Given the description of an element on the screen output the (x, y) to click on. 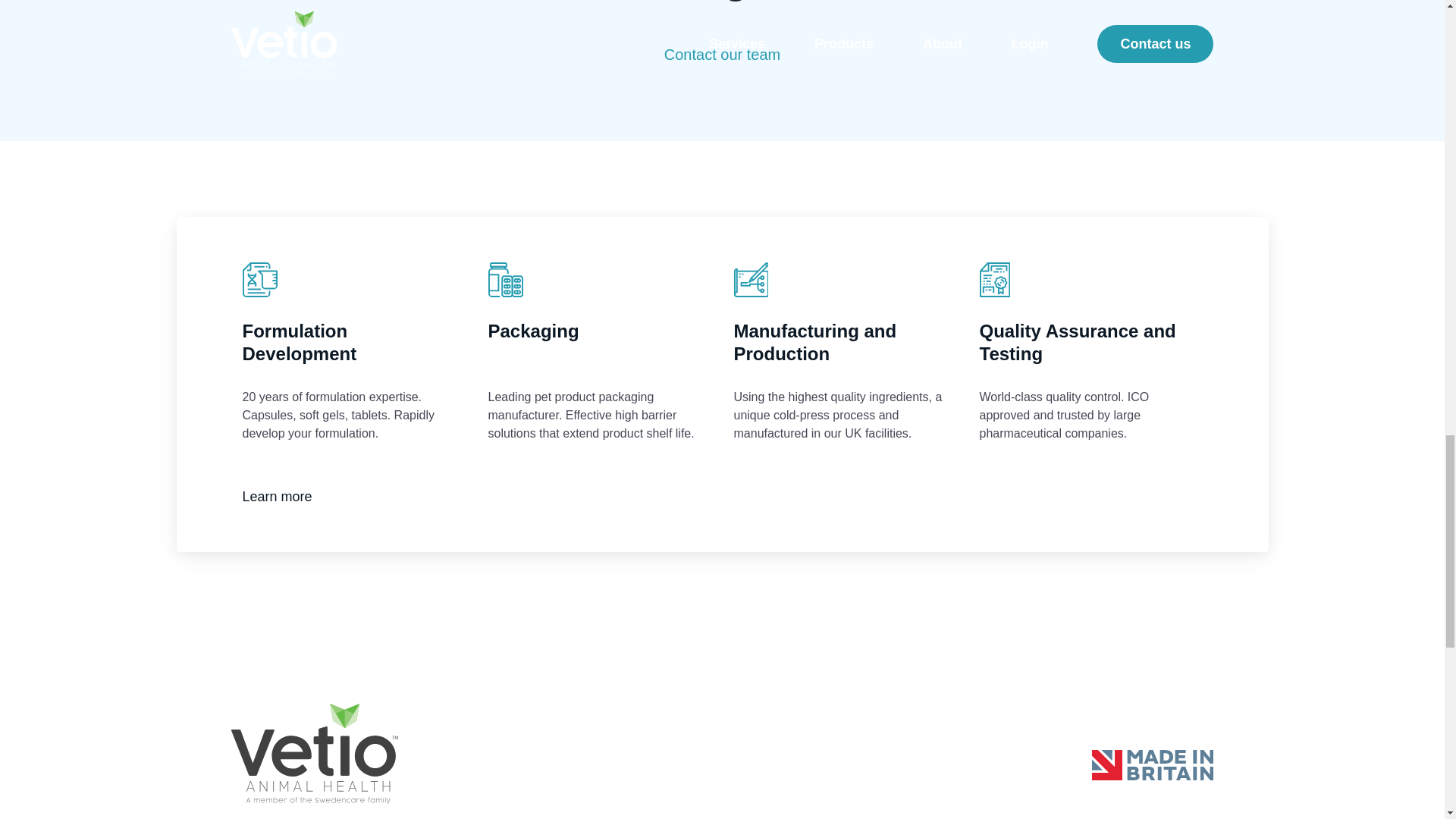
Contact our team (721, 54)
Learn more about our services (278, 496)
Learn more (278, 496)
Contact our team (721, 54)
Vetio Animal Health homepage (313, 761)
